Given the description of an element on the screen output the (x, y) to click on. 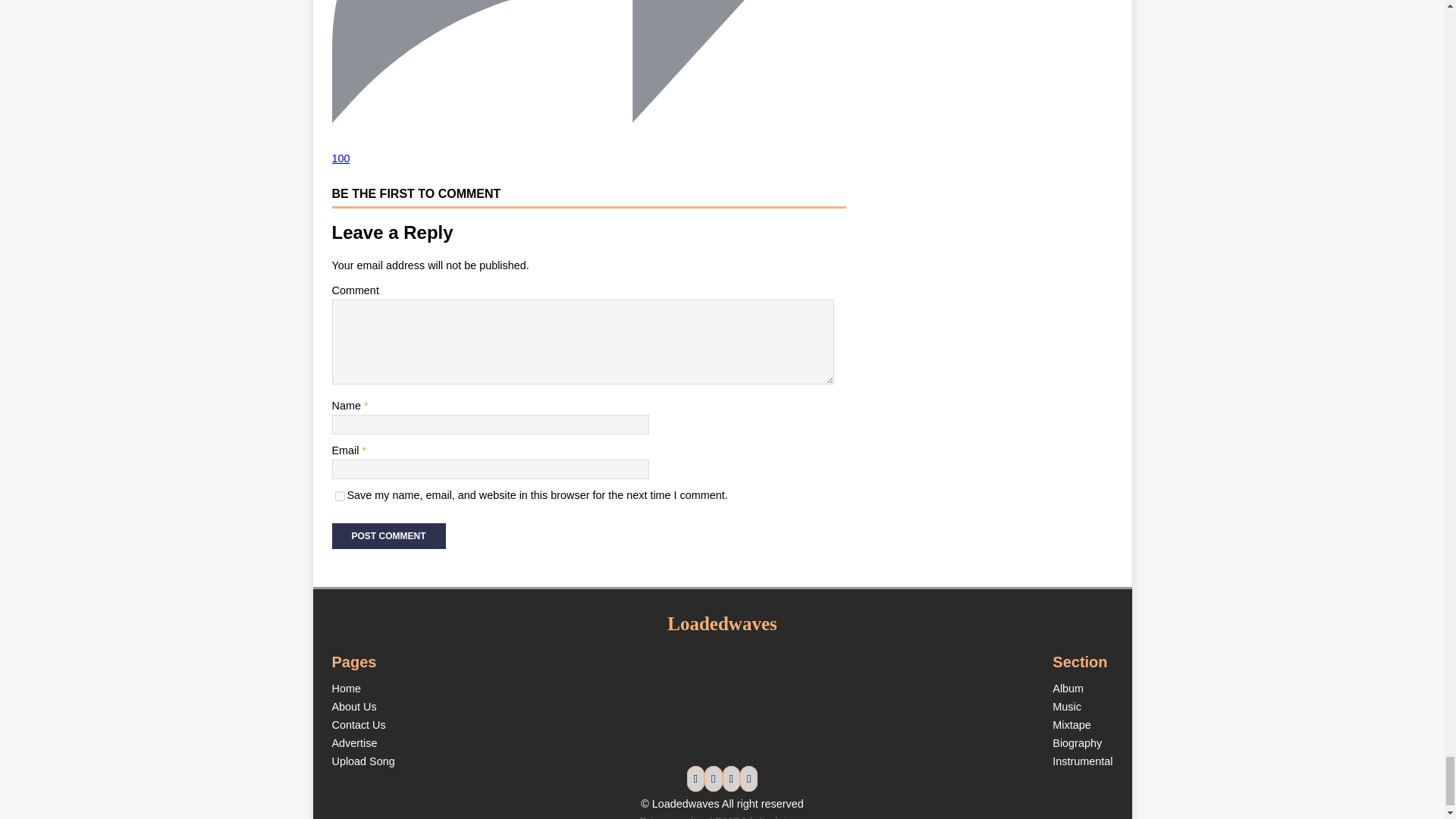
Post Comment (388, 535)
Post Comment (388, 535)
yes (339, 496)
